Given the description of an element on the screen output the (x, y) to click on. 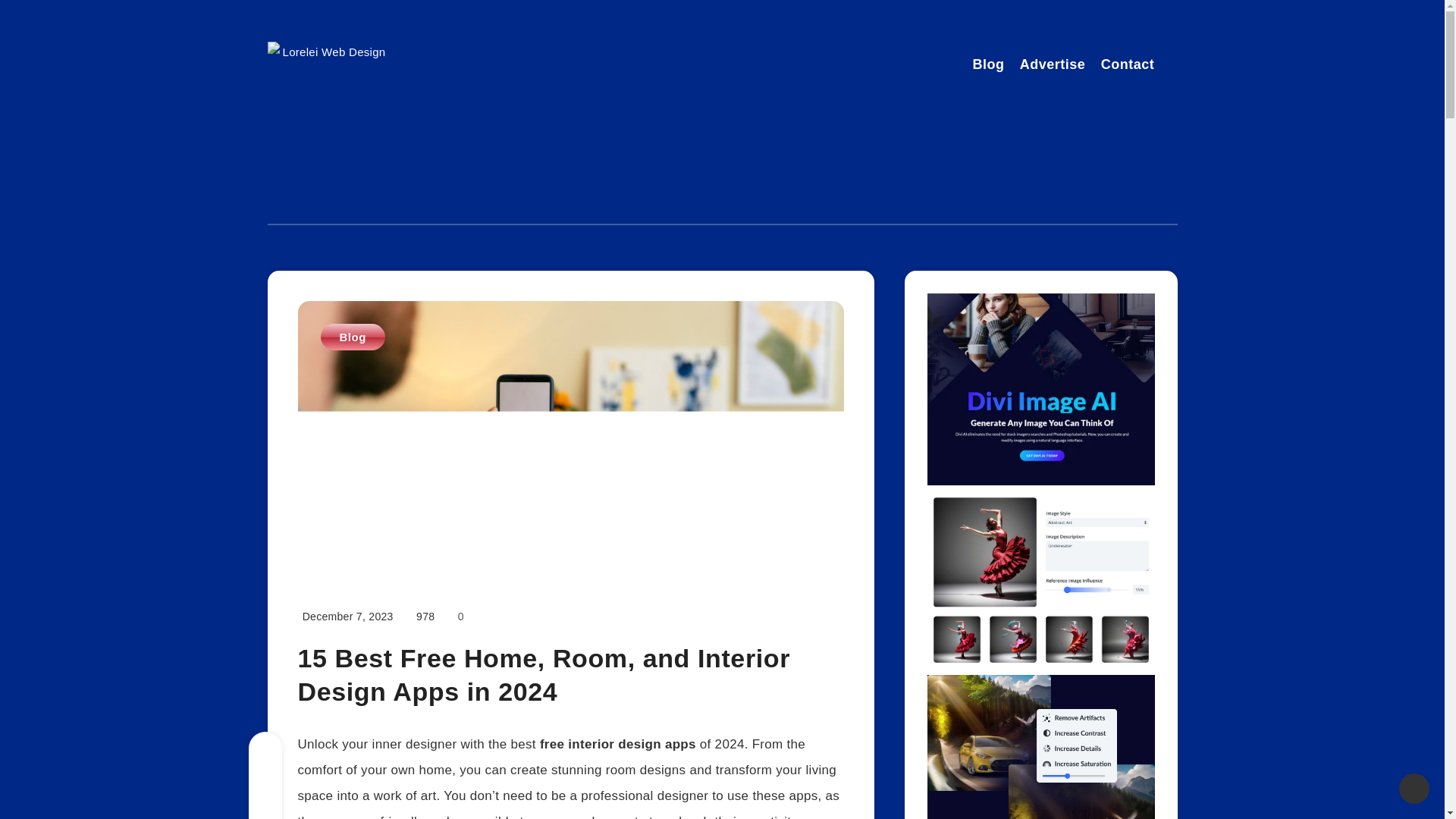
Blog (988, 65)
Views (425, 616)
Blog (352, 336)
Advertise (1053, 65)
Contact (1127, 65)
